Given the description of an element on the screen output the (x, y) to click on. 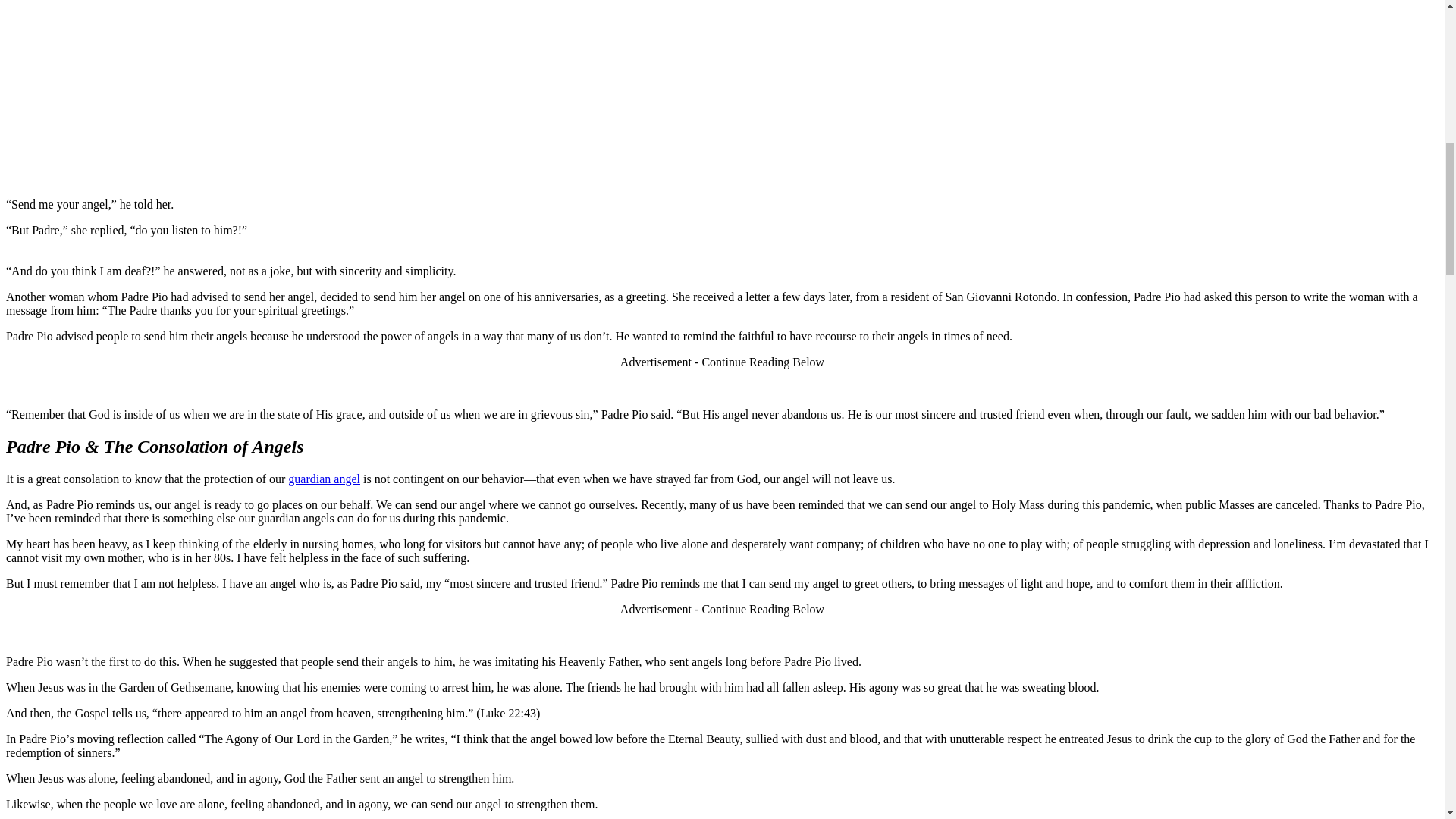
guardian angel (323, 477)
